Given the description of an element on the screen output the (x, y) to click on. 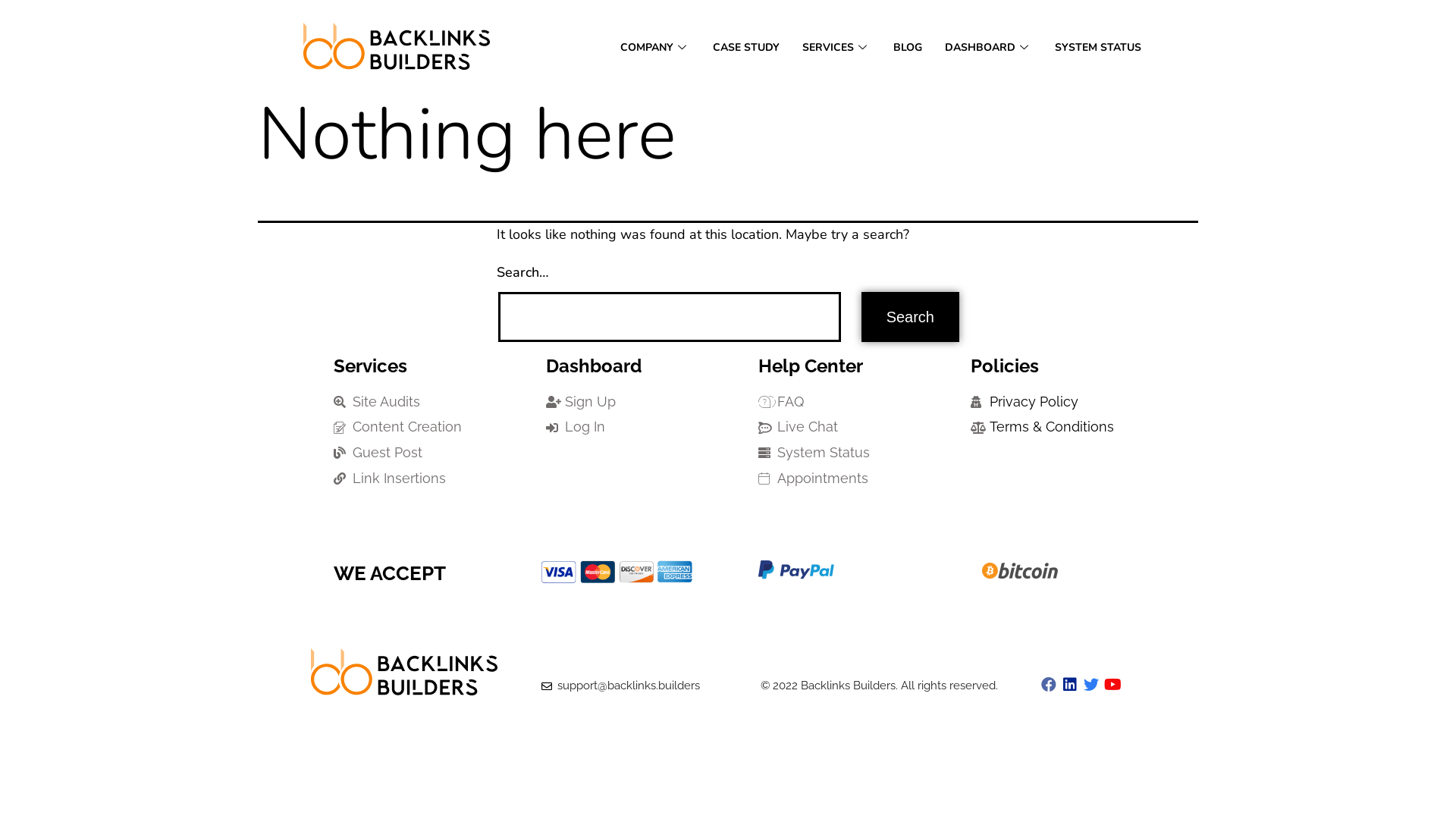
Content Creation Element type: text (420, 427)
Live Chat Element type: text (845, 427)
Terms & Conditions Element type: text (1057, 427)
COMPANY Element type: text (654, 47)
Search Element type: text (910, 316)
FAQ Element type: text (845, 402)
Site Audits Element type: text (420, 402)
SERVICES Element type: text (835, 47)
SYSTEM STATUS Element type: text (1097, 47)
Link Insertions Element type: text (420, 478)
Guest Post Element type: text (420, 452)
Privacy Policy Element type: text (1057, 402)
Sign Up Element type: text (633, 402)
CASE STUDY Element type: text (745, 47)
DASHBOARD Element type: text (988, 47)
Appointments Element type: text (845, 478)
Log In Element type: text (633, 427)
System Status Element type: text (845, 452)
BLOG Element type: text (907, 47)
